Given the description of an element on the screen output the (x, y) to click on. 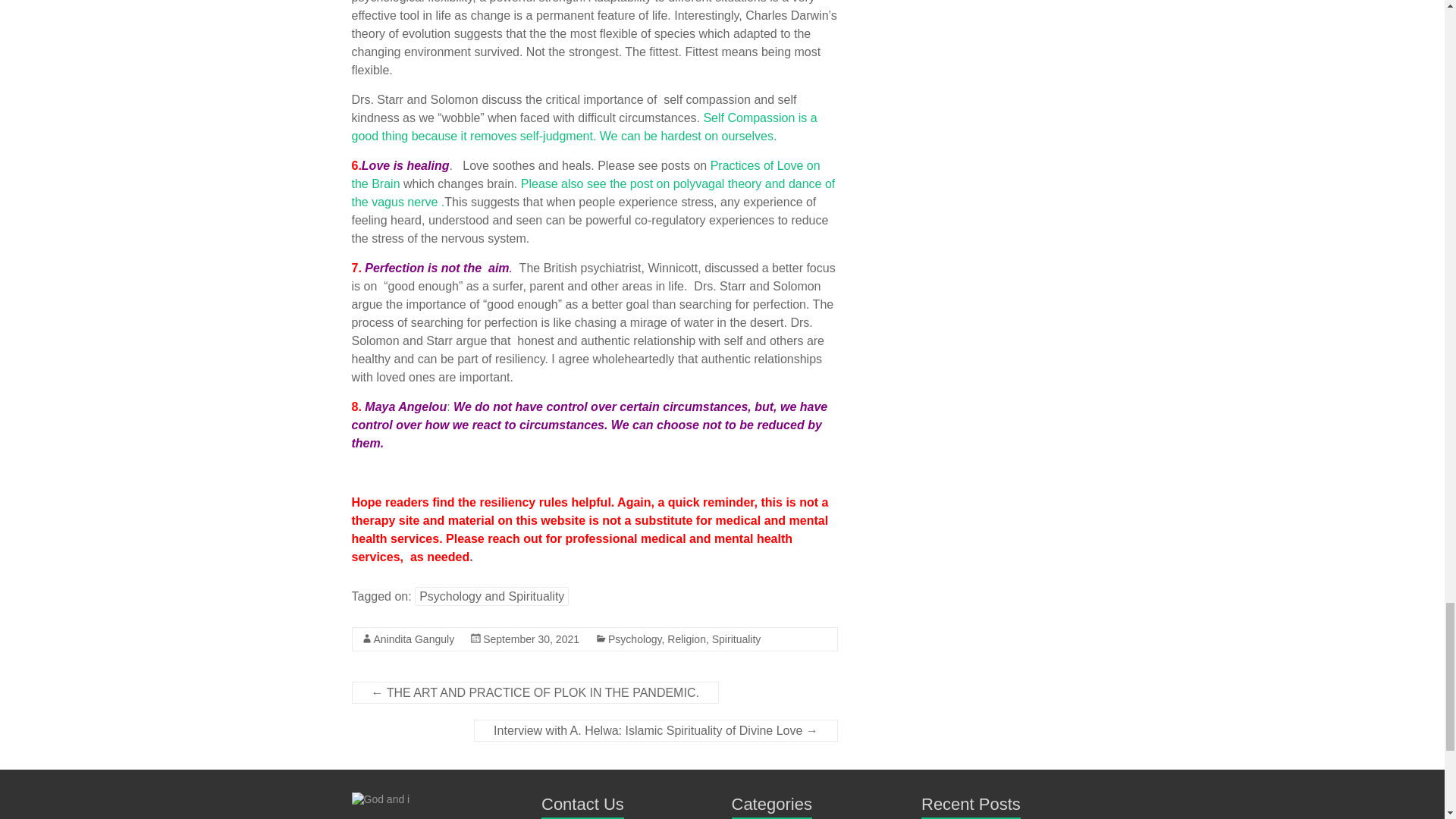
September 30, 2021 (531, 639)
8:55 pm (531, 639)
Practices of Love on the Brain (586, 174)
Psychology (635, 639)
Religion (686, 639)
Spirituality (736, 639)
Psychology and Spirituality (491, 596)
Anindita Ganguly (413, 639)
